Given the description of an element on the screen output the (x, y) to click on. 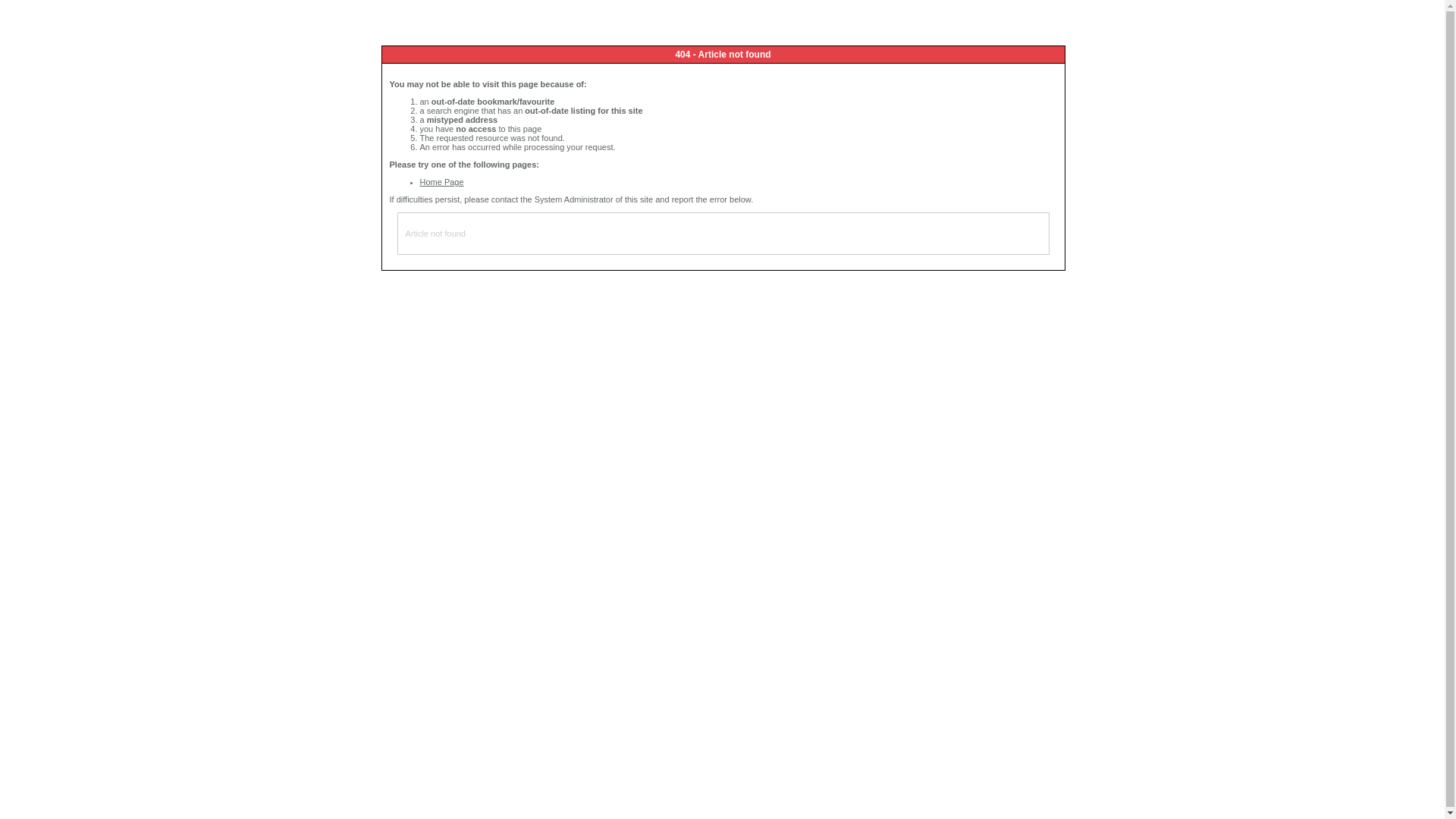
Home Page Element type: text (442, 181)
